Given the description of an element on the screen output the (x, y) to click on. 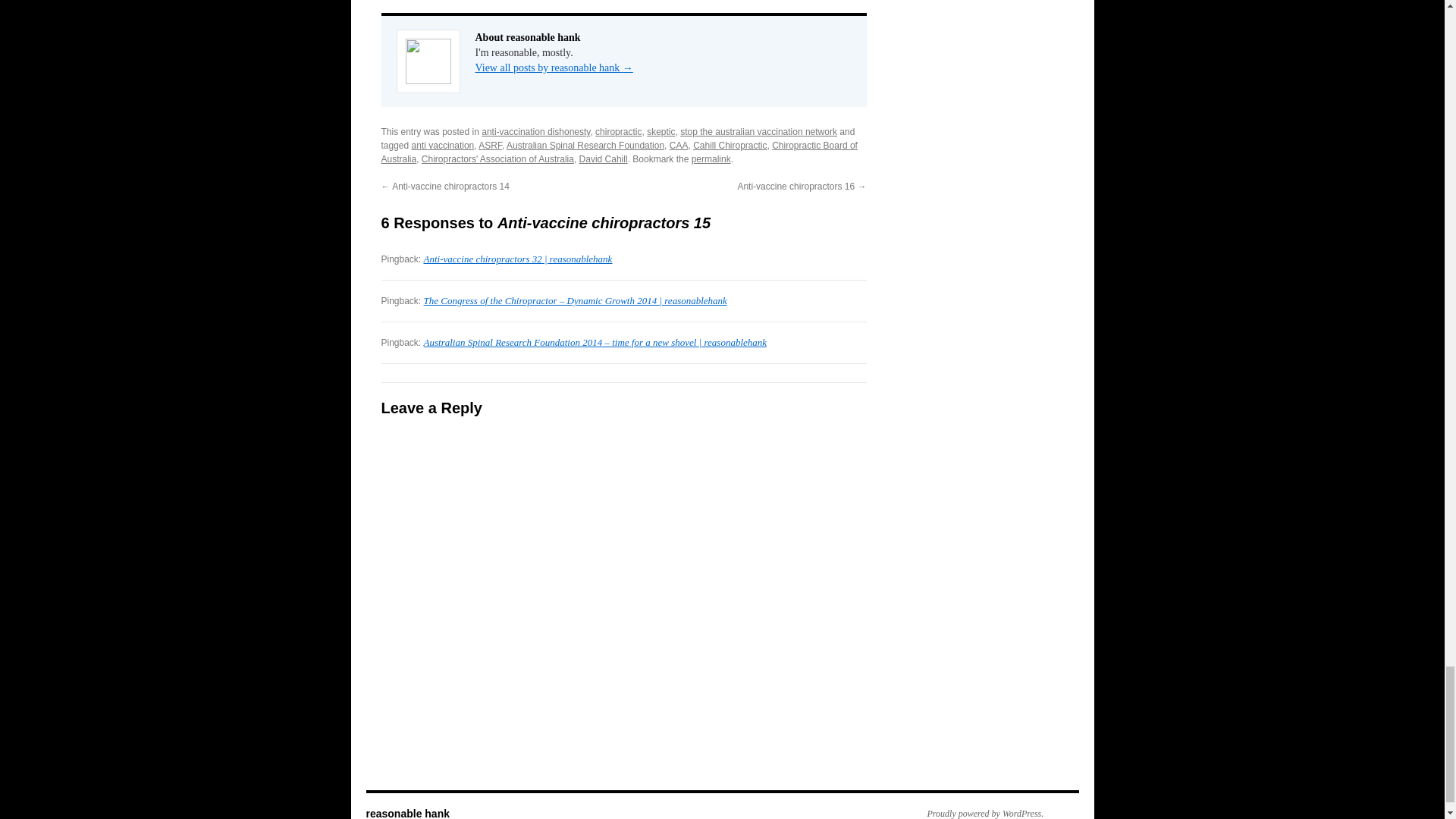
anti vaccination (443, 145)
CAA (678, 145)
stop the australian vaccination network (758, 131)
ASRF (490, 145)
Chiropractic Board of Australia (618, 152)
Australian Spinal Research Foundation (584, 145)
skeptic (660, 131)
Permalink to Anti-vaccine chiropractors 15 (710, 158)
Cahill Chiropractic (730, 145)
chiropractic (618, 131)
anti-vaccination dishonesty (535, 131)
